Given the description of an element on the screen output the (x, y) to click on. 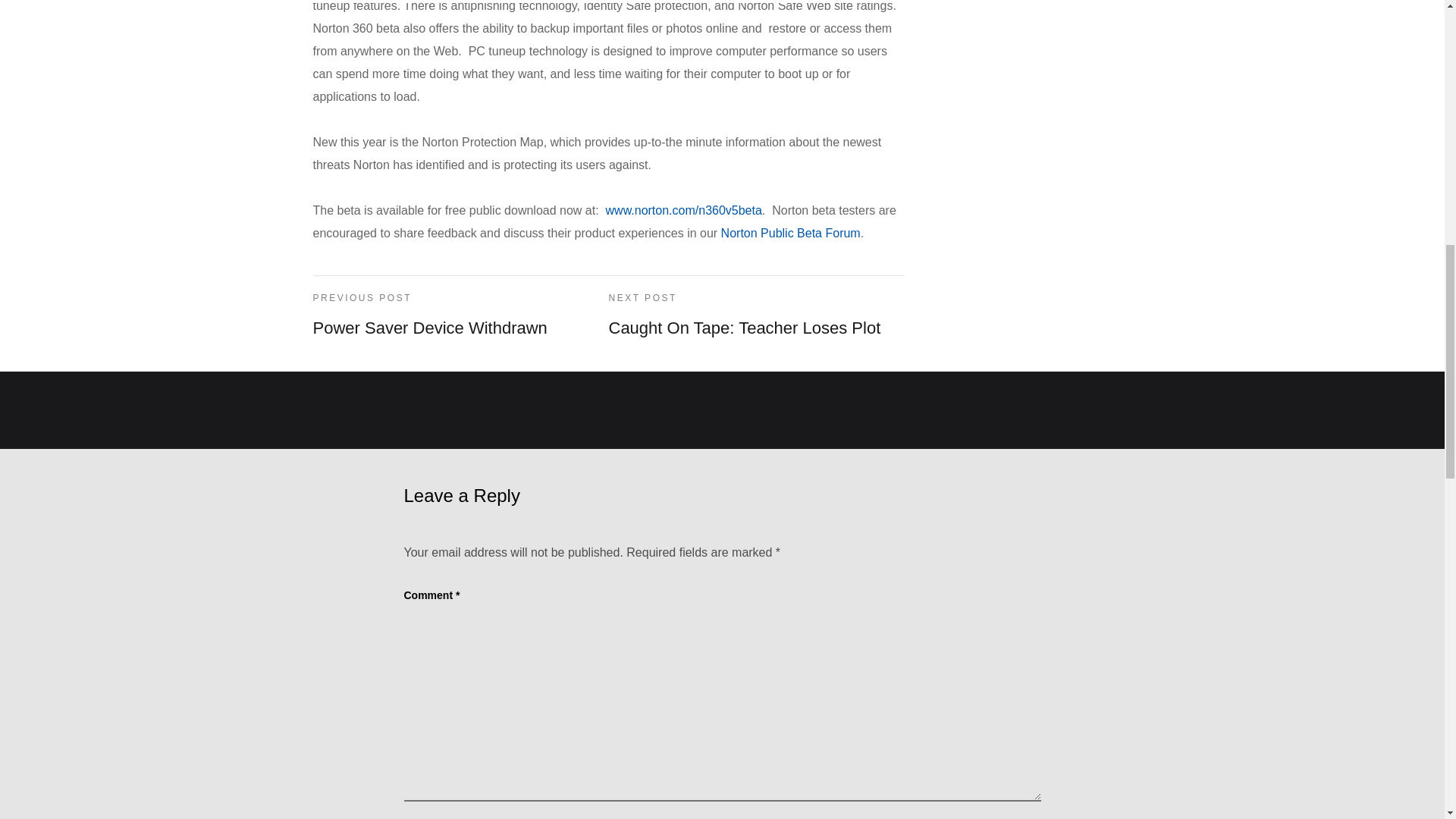
Power Saver Device Withdrawn (430, 327)
Caught On Tape: Teacher Loses Plot (744, 327)
Norton Public Beta Forum (790, 232)
